Given the description of an element on the screen output the (x, y) to click on. 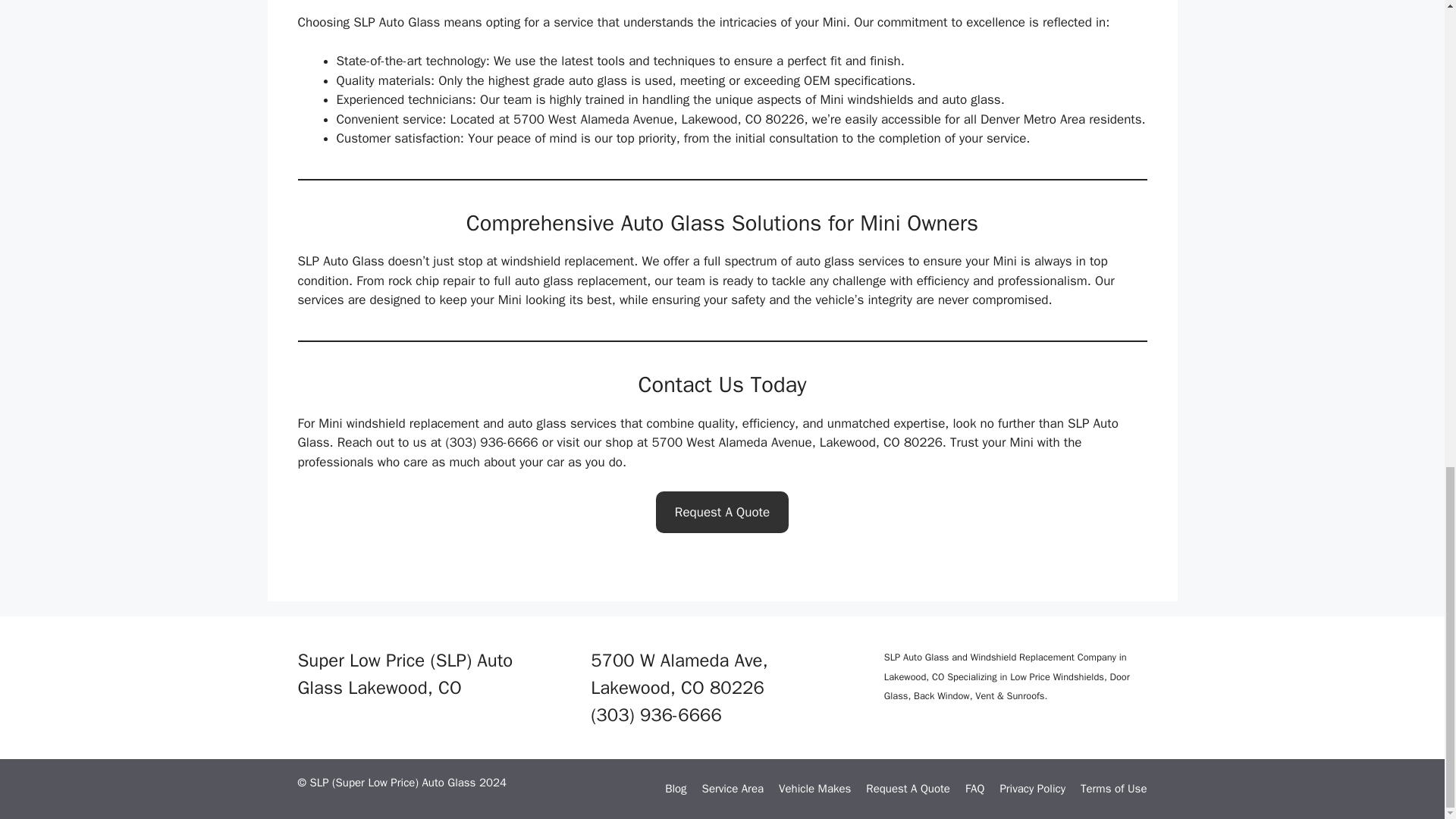
Request A Quote (908, 788)
Request A Quote (722, 512)
Terms of Use (1113, 788)
Privacy Policy (1031, 788)
Blog (675, 788)
FAQ (974, 788)
Service Area (731, 788)
Vehicle Makes (814, 788)
